Given the description of an element on the screen output the (x, y) to click on. 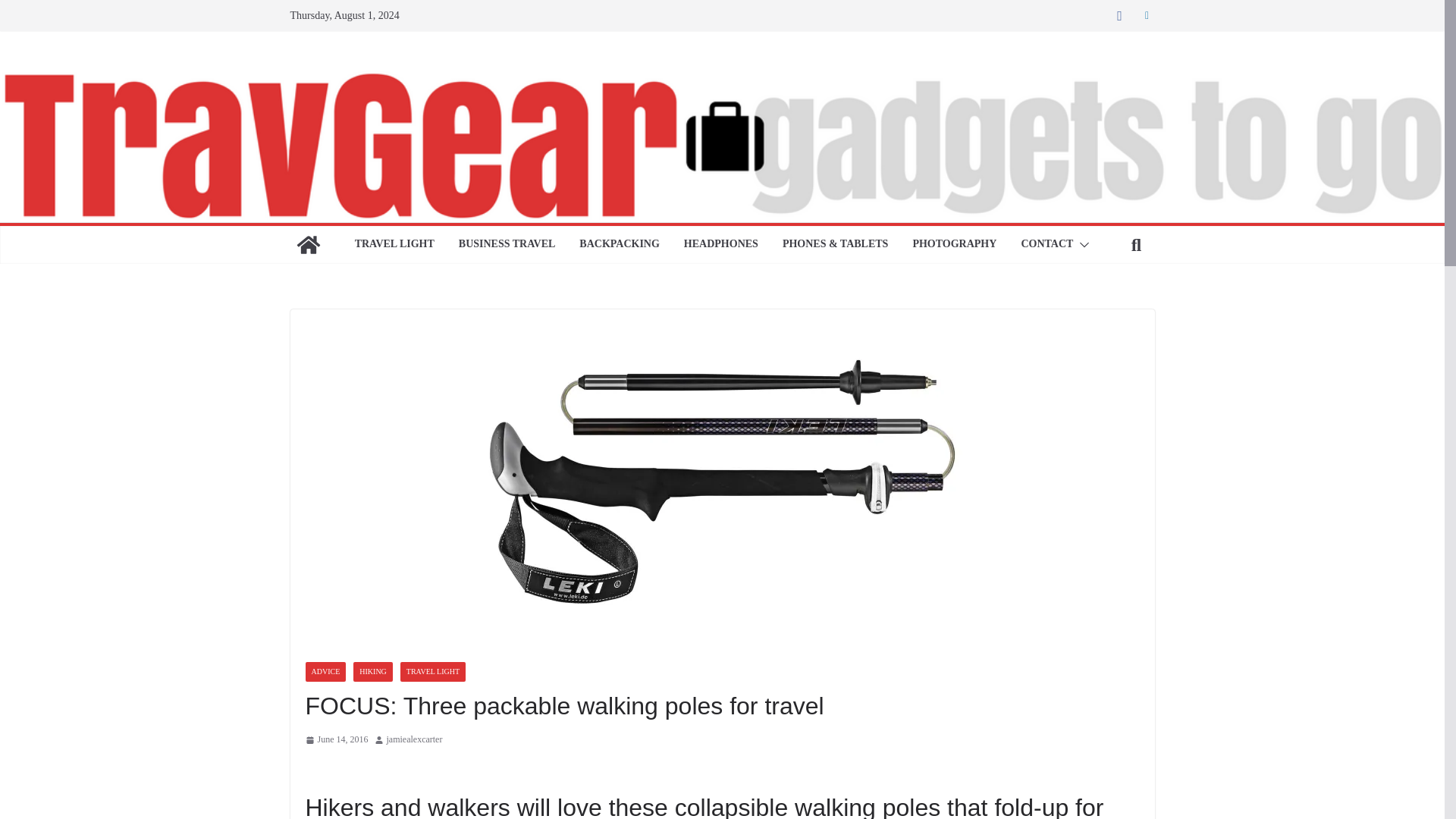
jamiealexcarter (414, 740)
8:45 am (336, 740)
HEADPHONES (721, 244)
CONTACT (1046, 244)
BUSINESS TRAVEL (507, 244)
June 14, 2016 (336, 740)
ADVICE (325, 671)
HIKING (373, 671)
TRAVEL LIGHT (394, 244)
PHOTOGRAPHY (953, 244)
Travgear.com (307, 244)
jamiealexcarter (414, 740)
TRAVEL LIGHT (432, 671)
BACKPACKING (619, 244)
